Given the description of an element on the screen output the (x, y) to click on. 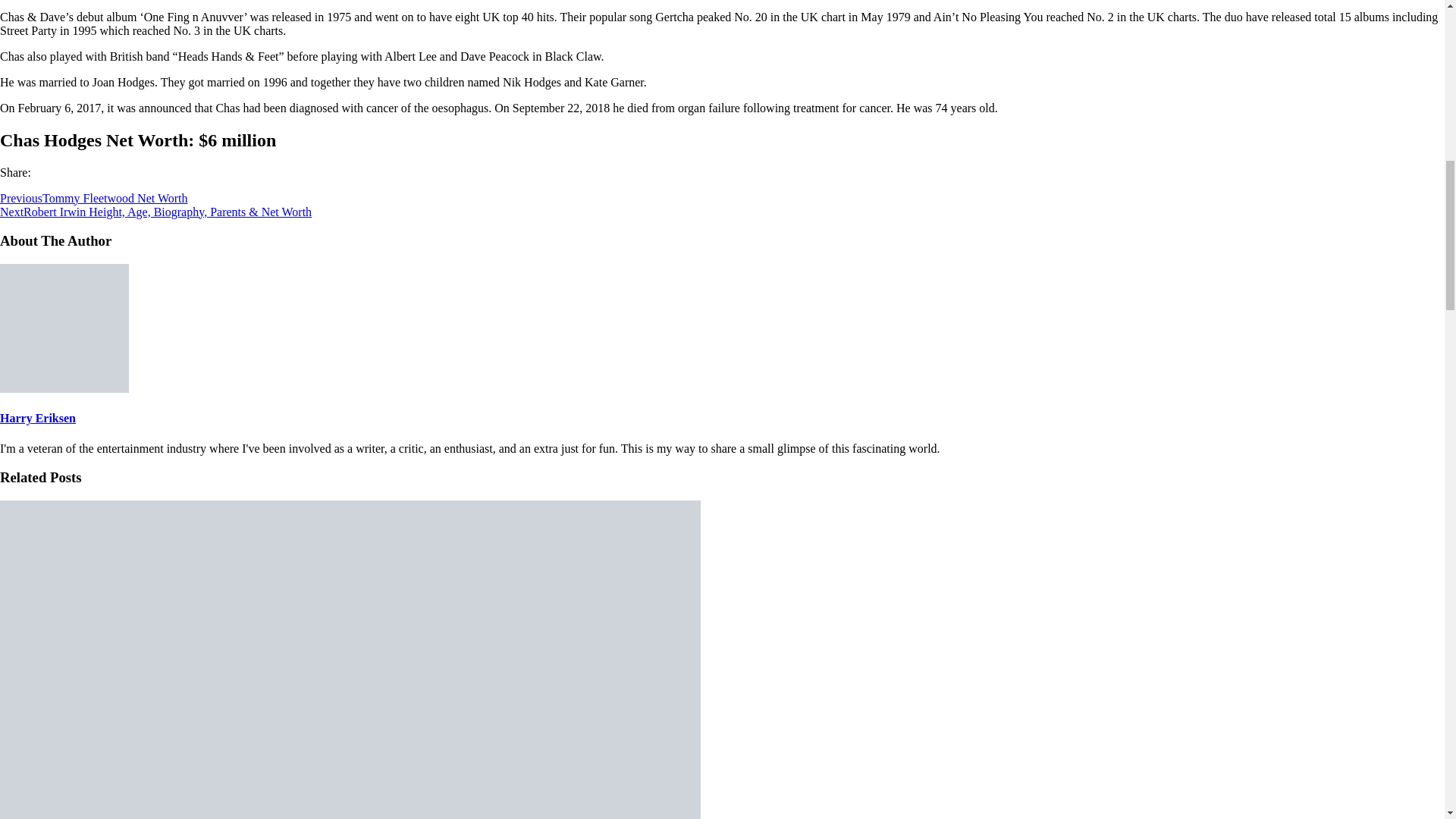
View all posts by Harry Eriksen (37, 418)
PreviousTommy Fleetwood Net Worth (93, 197)
Harry Eriksen (37, 418)
